Given the description of an element on the screen output the (x, y) to click on. 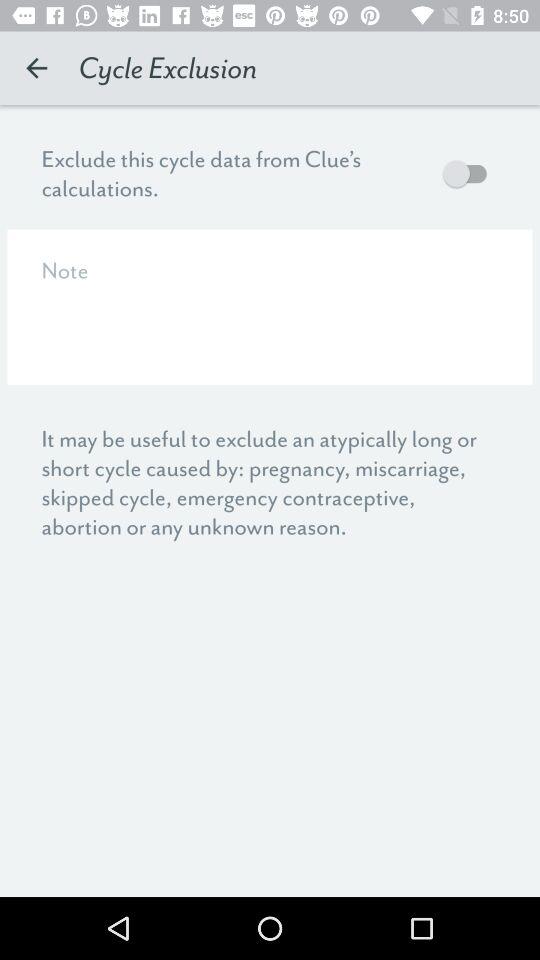
add a note (269, 306)
